Given the description of an element on the screen output the (x, y) to click on. 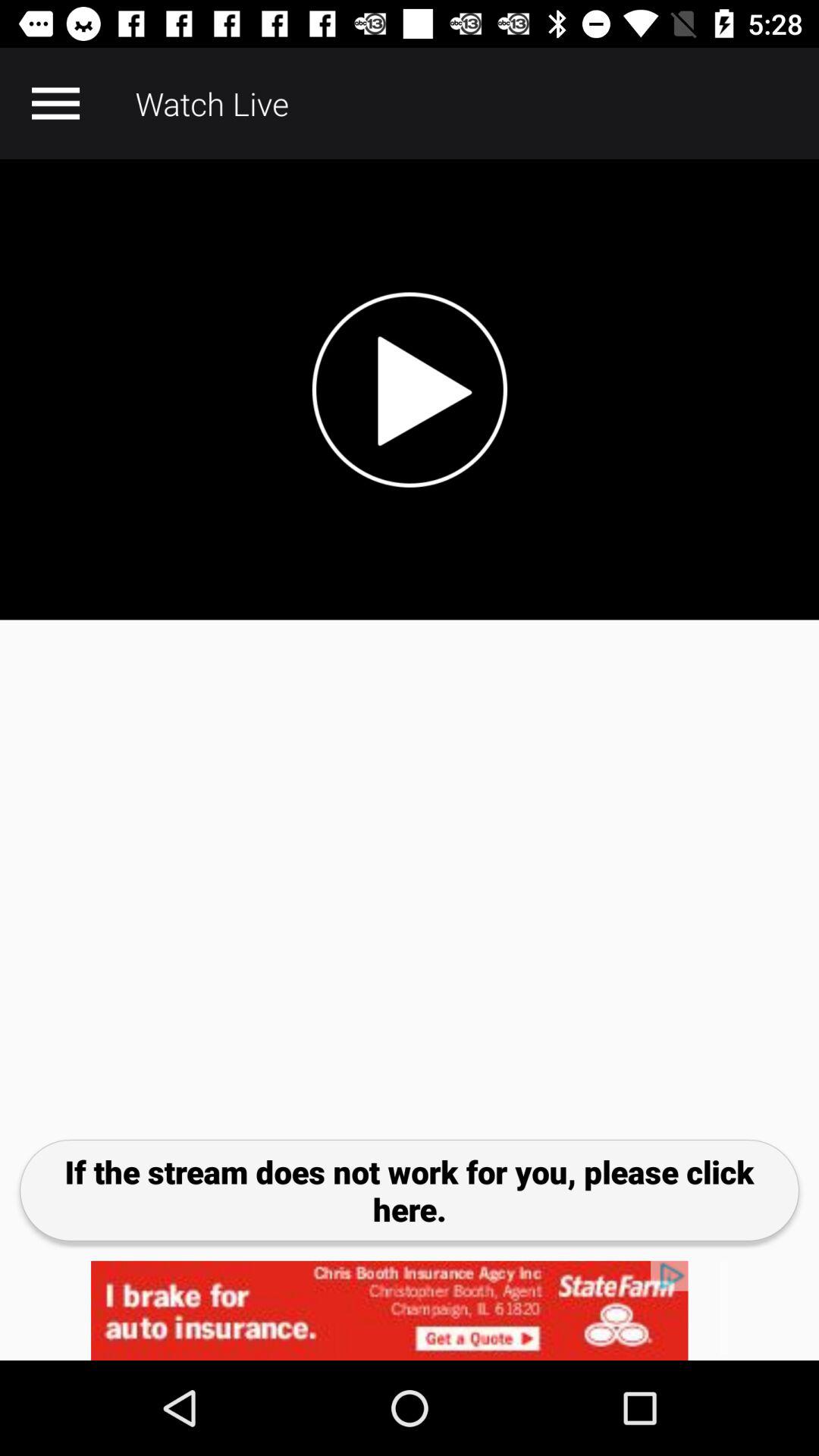
click to play media (409, 389)
